Given the description of an element on the screen output the (x, y) to click on. 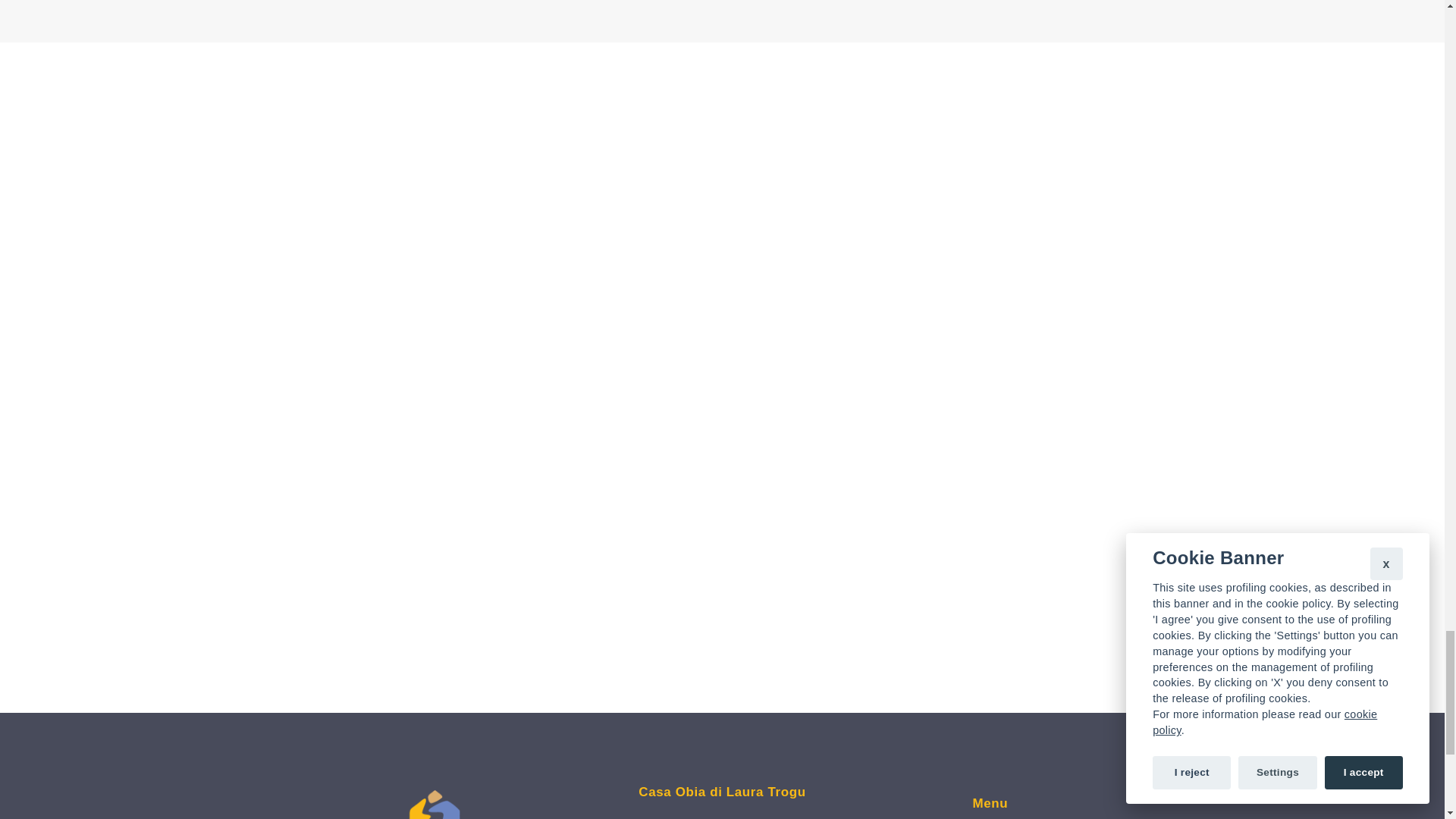
Casa Obia di Laura Trogu (722, 792)
